Given the description of an element on the screen output the (x, y) to click on. 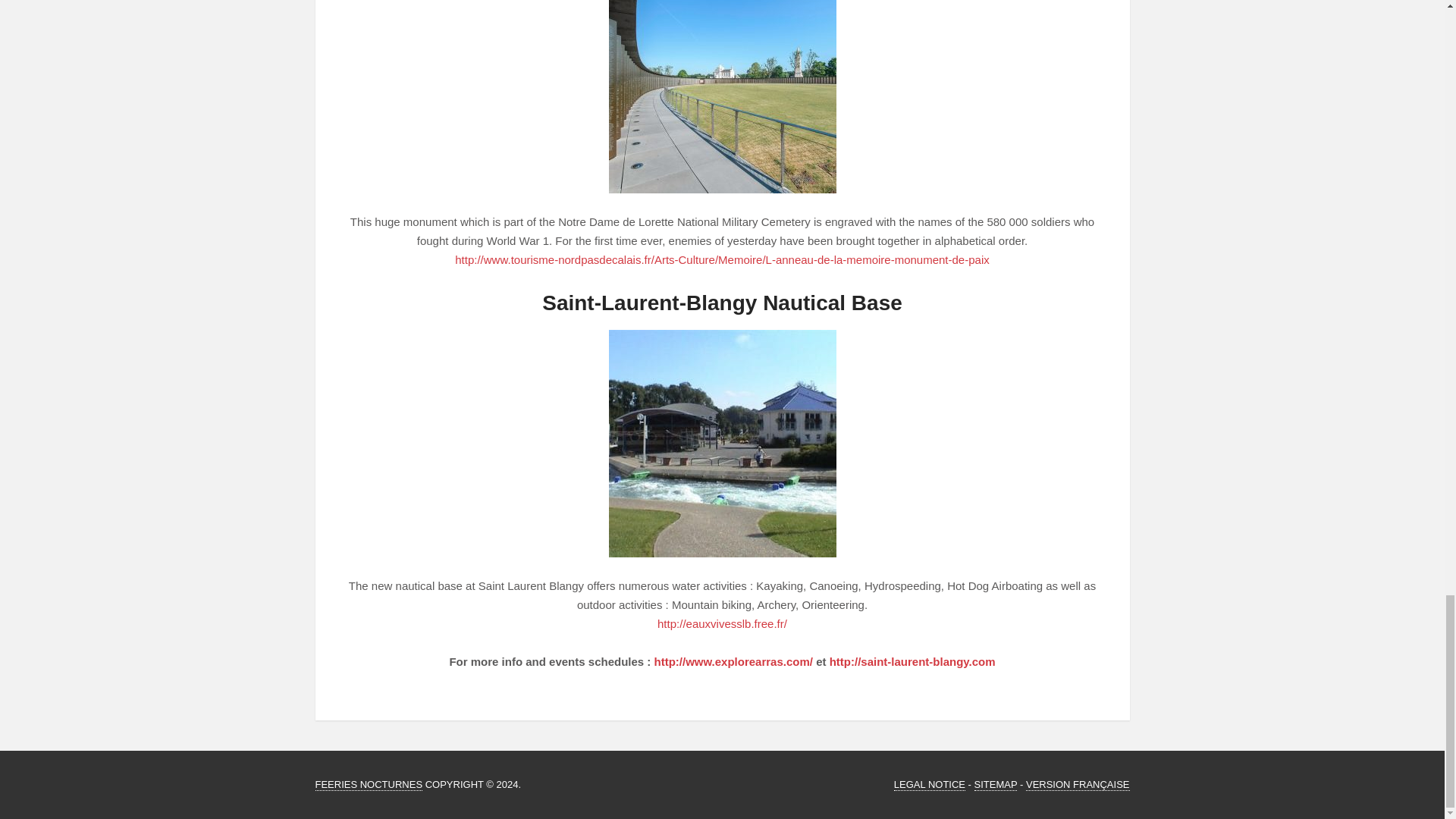
Great live show north of Paris (369, 784)
LEGAL NOTICE (929, 784)
FEERIES NOCTURNES (369, 784)
SITEMAP (995, 784)
